Given the description of an element on the screen output the (x, y) to click on. 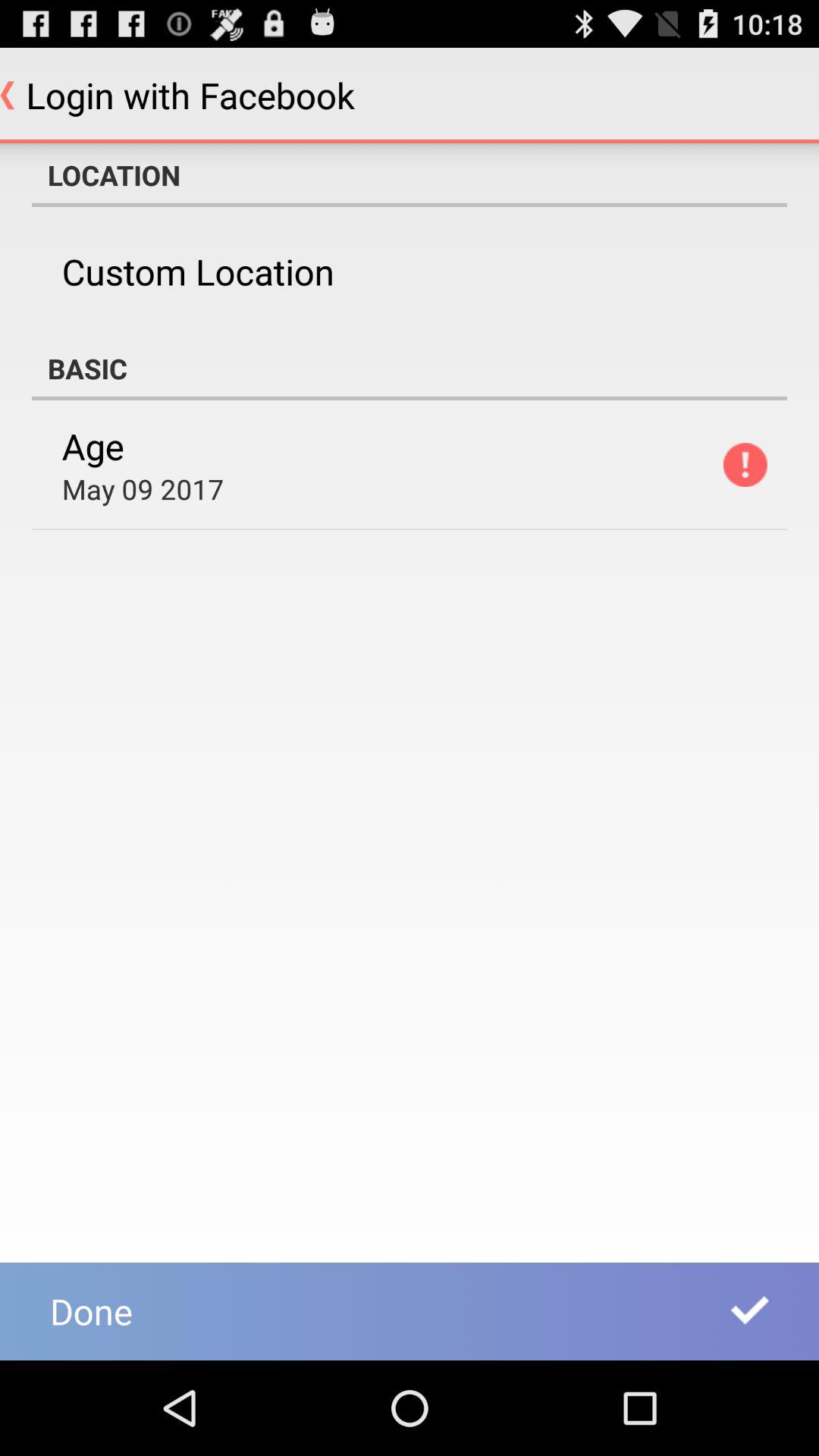
open app below location item (197, 271)
